Given the description of an element on the screen output the (x, y) to click on. 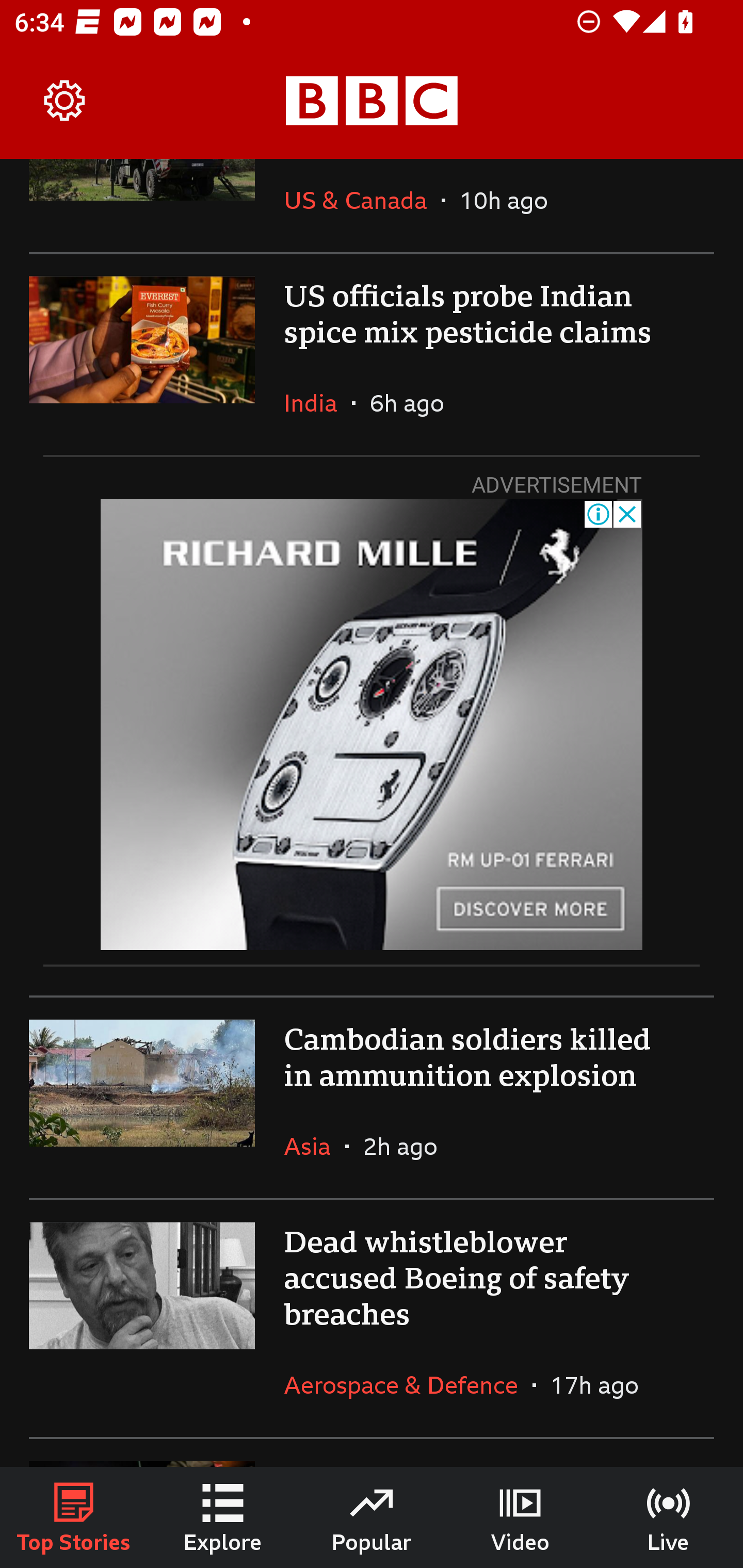
Settings (64, 100)
US & Canada In the section US & Canada (362, 205)
India In the section India (317, 402)
Advertisement (371, 724)
Asia In the section Asia (314, 1145)
Explore (222, 1517)
Popular (371, 1517)
Video (519, 1517)
Live (668, 1517)
